Given the description of an element on the screen output the (x, y) to click on. 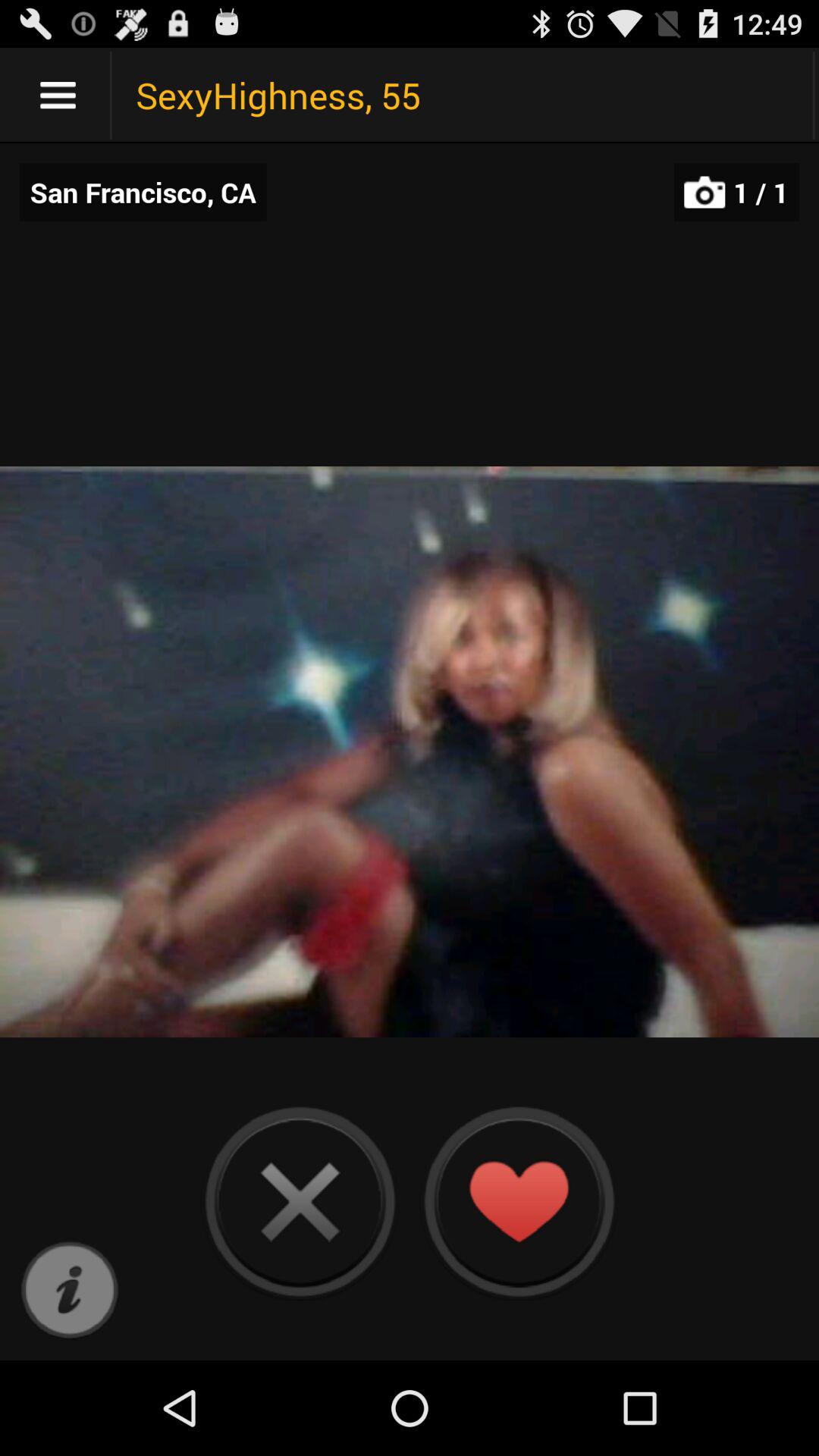
like or favorite the above photo (518, 1200)
